Given the description of an element on the screen output the (x, y) to click on. 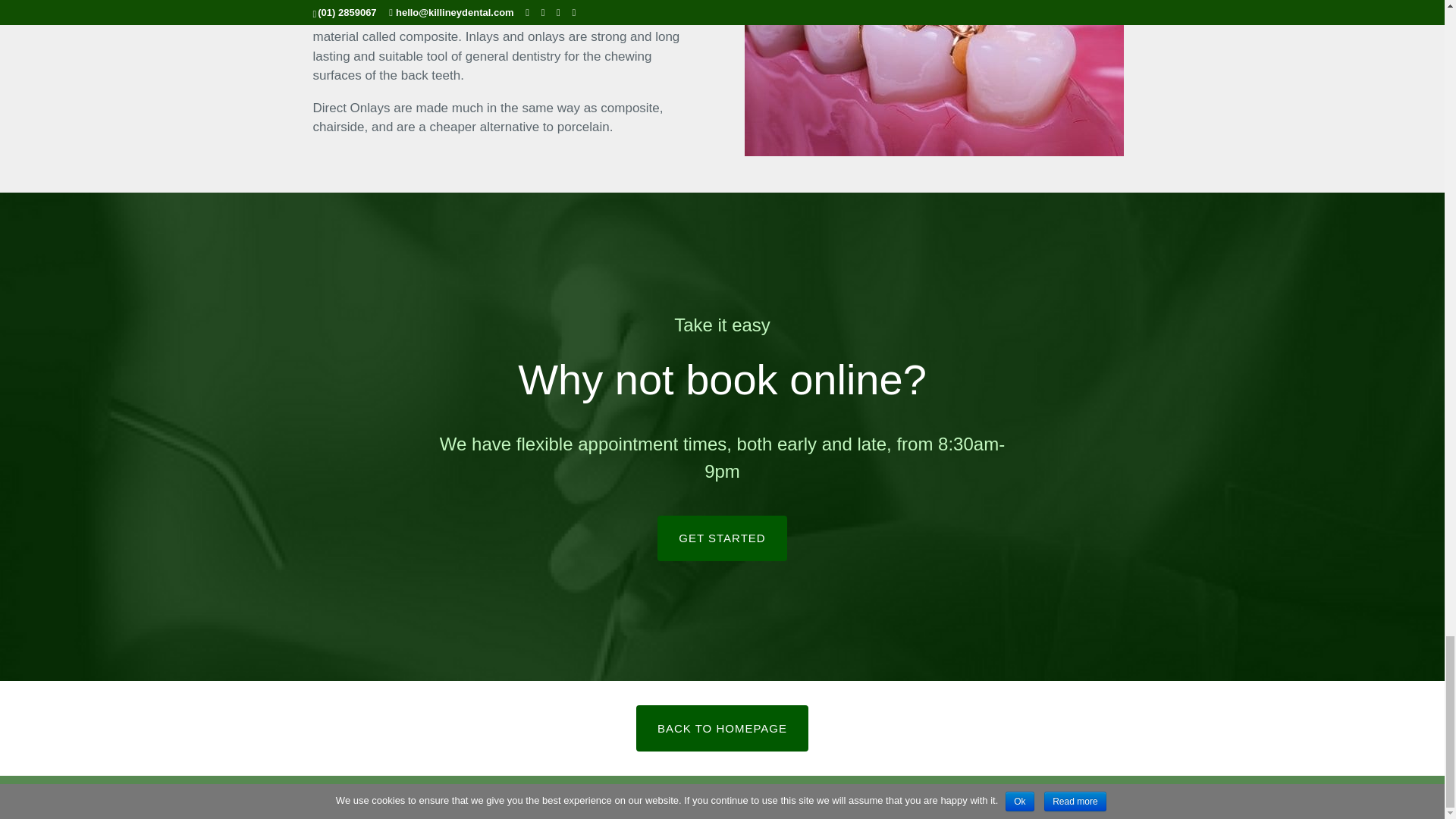
dental inlays and onlays dublin (934, 78)
